Given the description of an element on the screen output the (x, y) to click on. 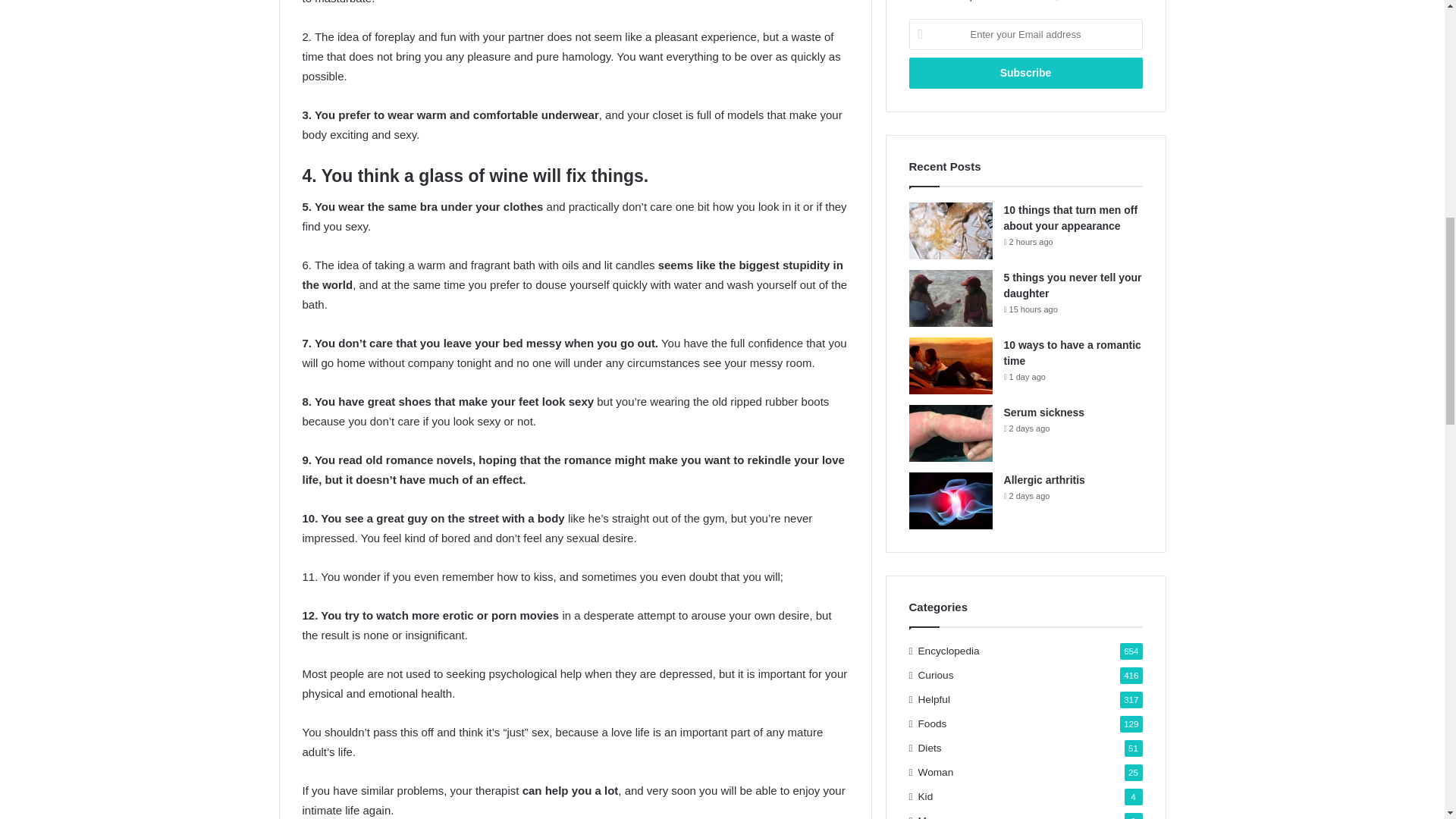
Subscribe (1025, 72)
